Given the description of an element on the screen output the (x, y) to click on. 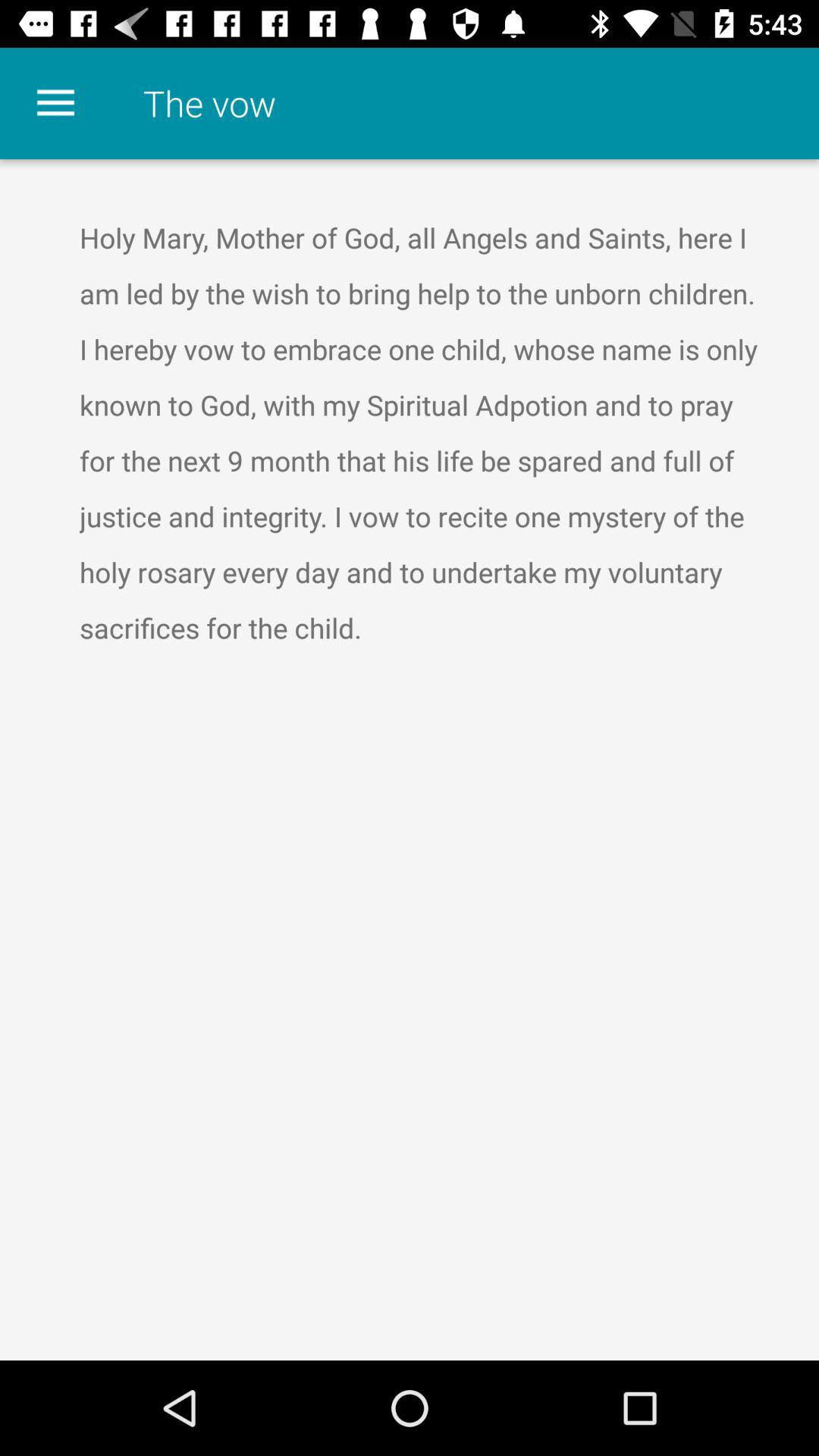
choose icon at the top left corner (55, 103)
